Given the description of an element on the screen output the (x, y) to click on. 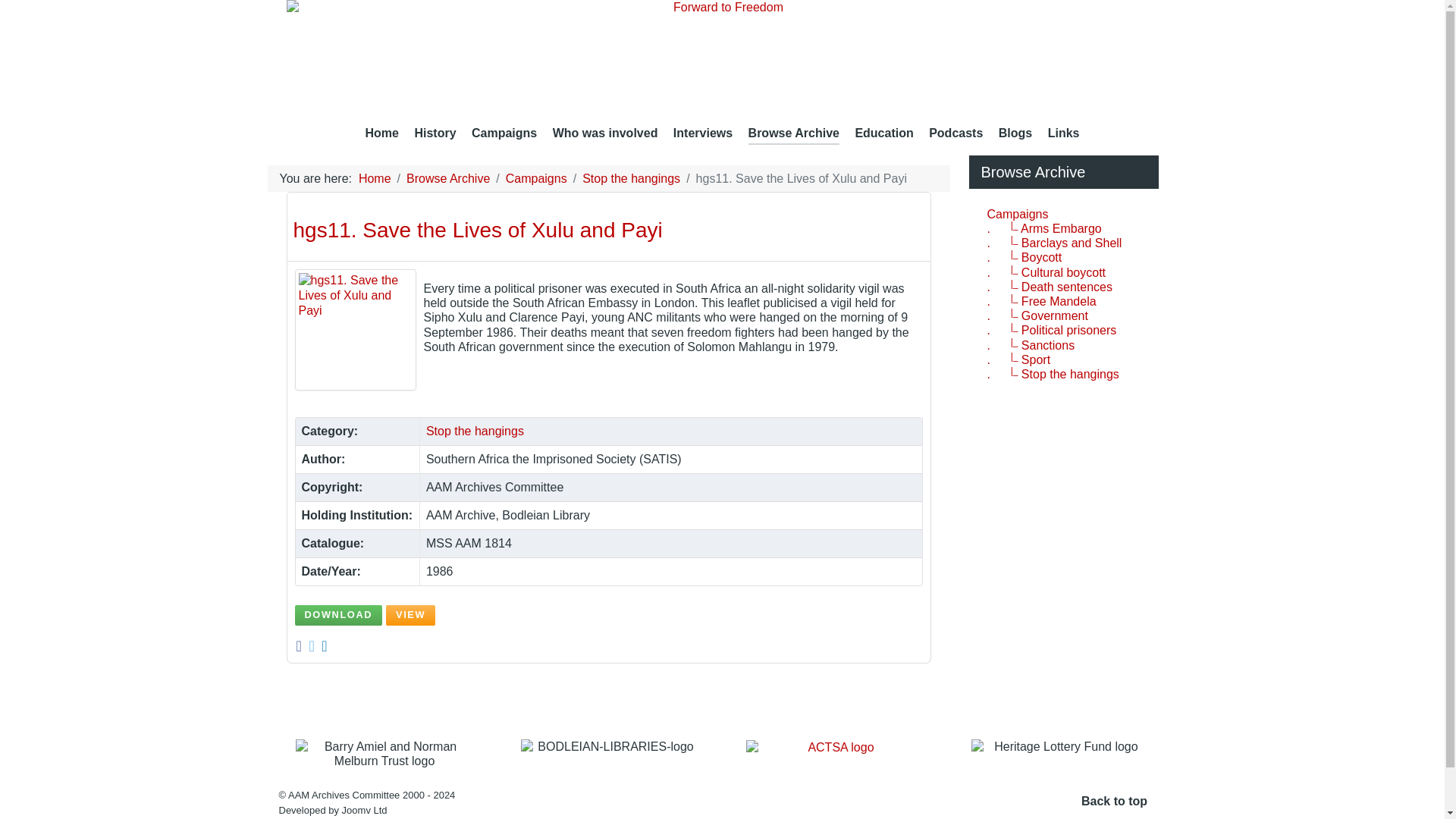
Campaigns (504, 134)
Interviews (702, 134)
Forward to Freedom (722, 57)
Browse Archive (794, 134)
Who was involved (605, 134)
Home (381, 134)
History (434, 134)
Campaigns (504, 134)
Home (381, 134)
History (434, 134)
